Given the description of an element on the screen output the (x, y) to click on. 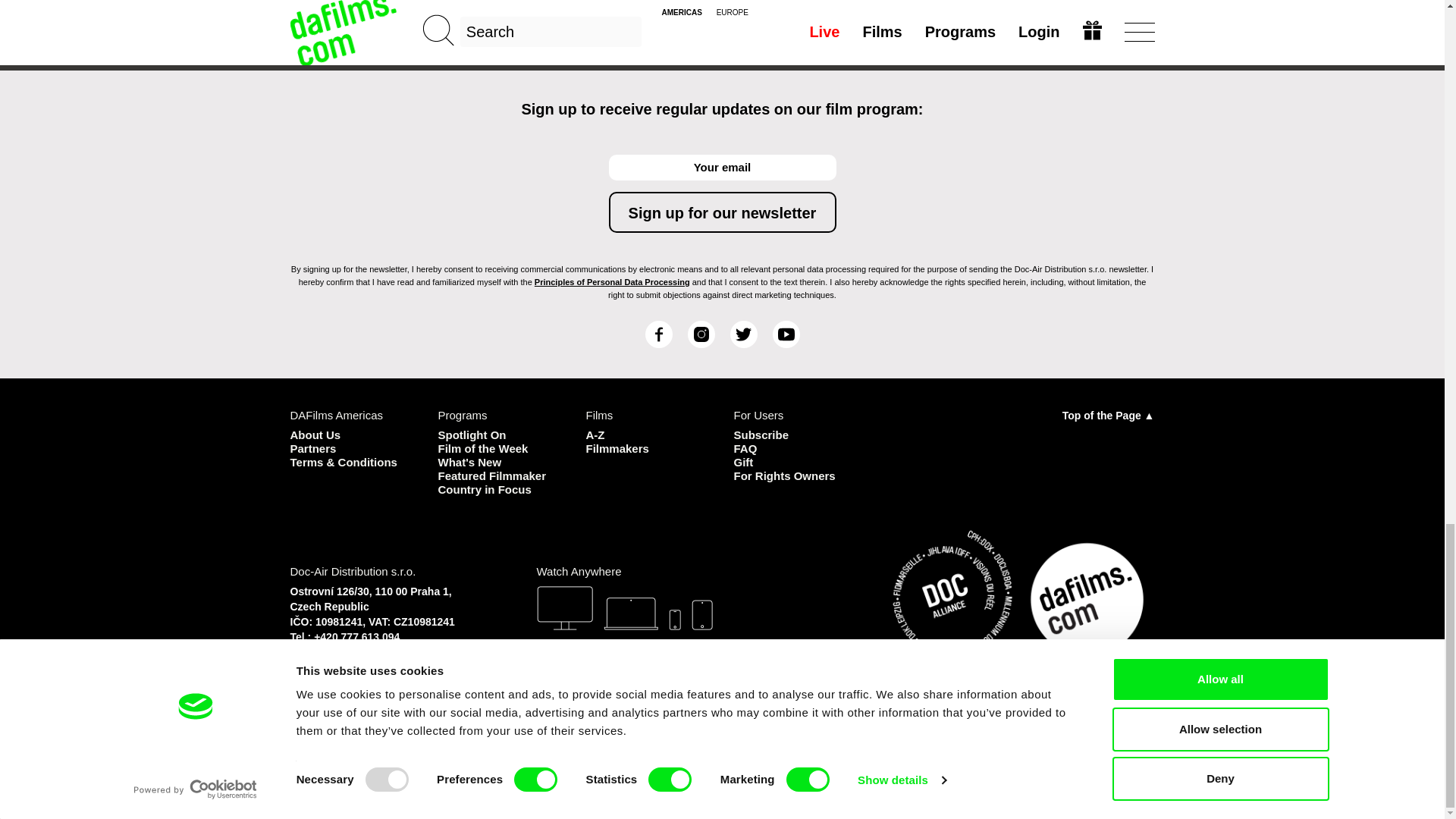
Sign up for our newsletter (721, 211)
